Given the description of an element on the screen output the (x, y) to click on. 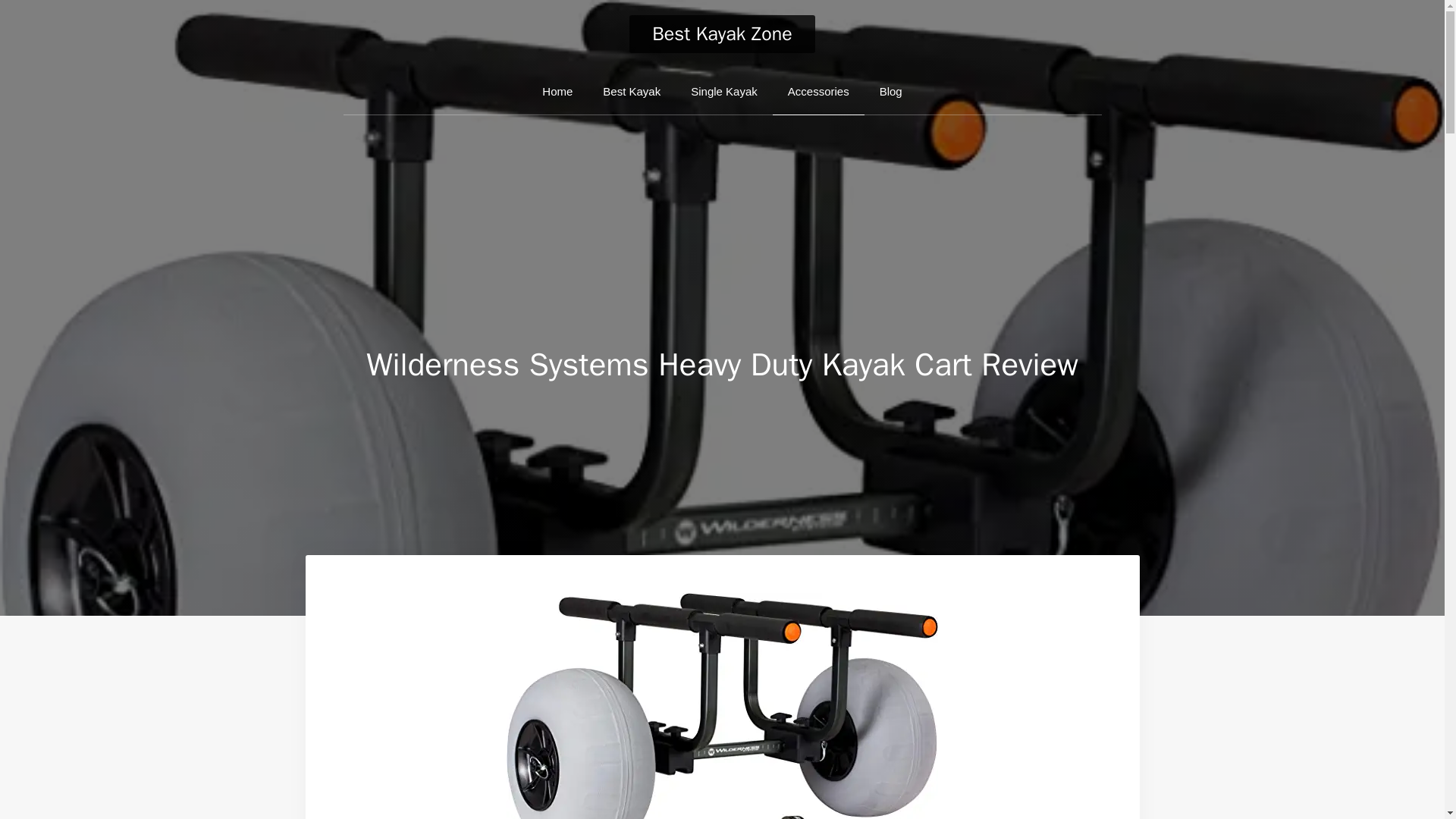
Best Kayak (631, 91)
Best Kayak Zone (722, 33)
Blog (890, 91)
Accessories (818, 91)
Home (557, 91)
Single Kayak (724, 91)
